Given the description of an element on the screen output the (x, y) to click on. 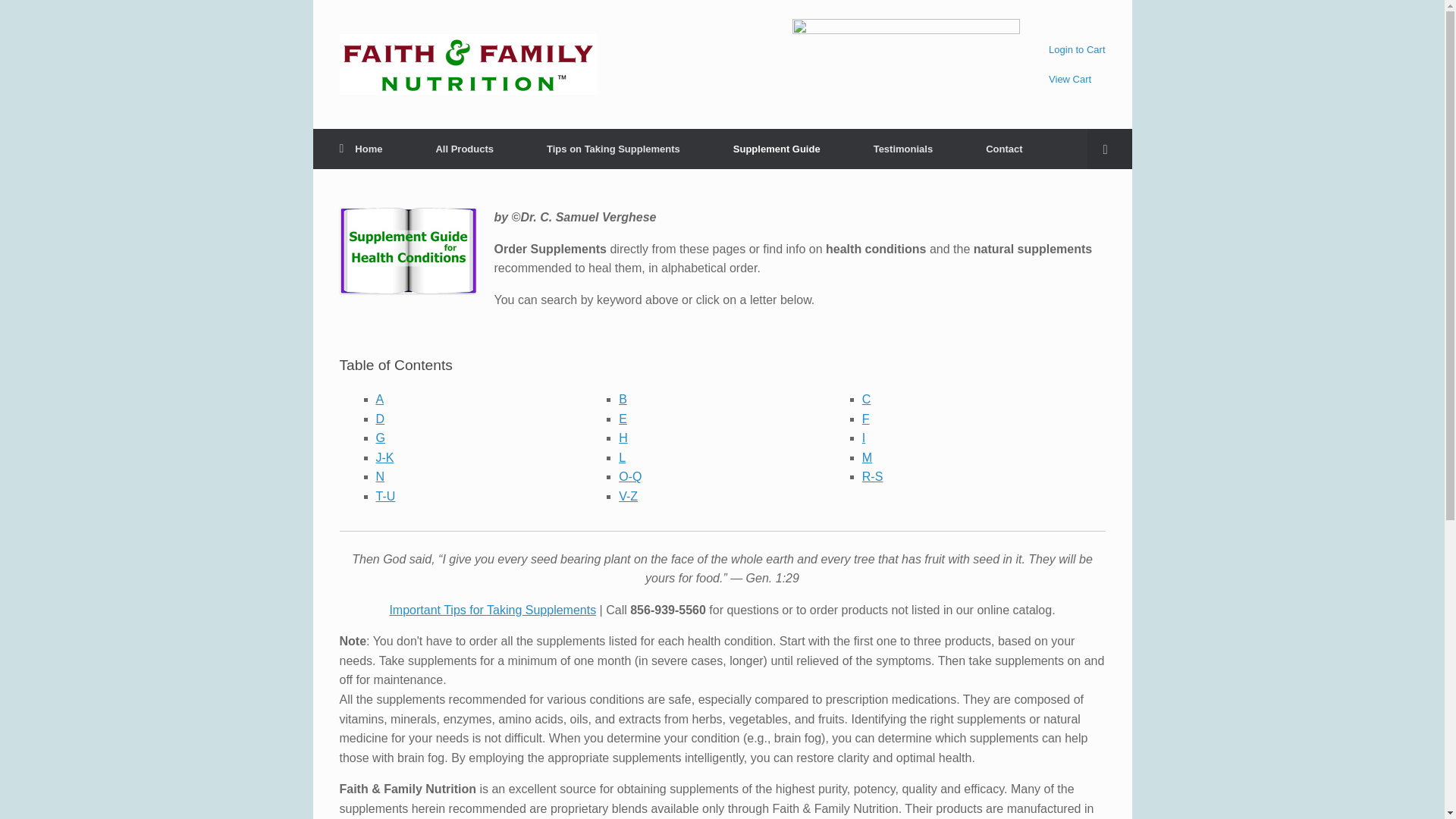
T-U (385, 495)
Login to Cart (1076, 49)
Home (361, 148)
Tips on Taking Supplements (612, 148)
All Products (464, 148)
Tips for Taking Supplements (491, 609)
V-Z (627, 495)
View Cart (1069, 79)
J-K (384, 457)
O-Q (630, 476)
